Given the description of an element on the screen output the (x, y) to click on. 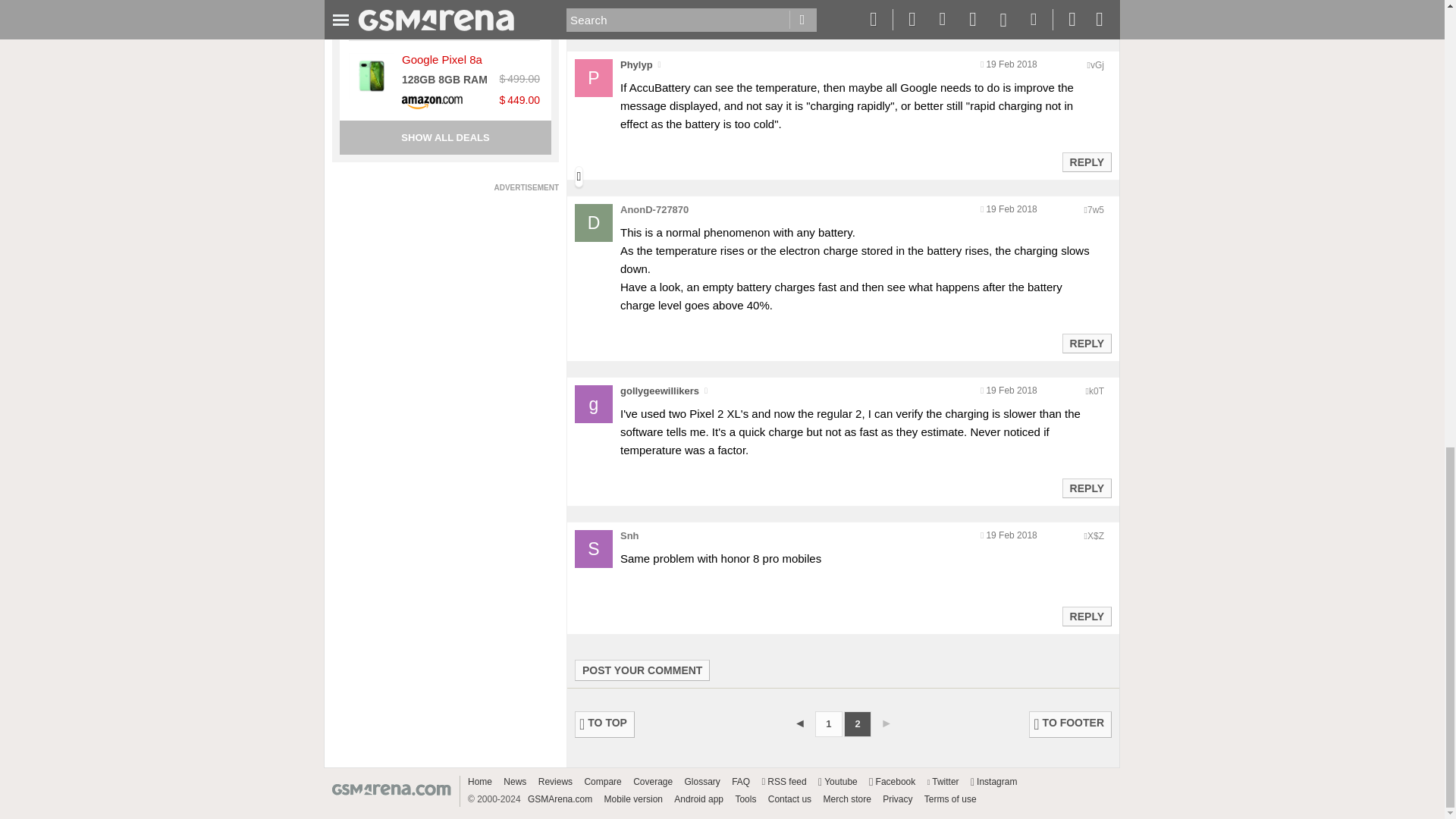
Reply to this post (1086, 343)
Reply to this post (1086, 17)
Encoded anonymized location (1095, 535)
Reply to this post (1086, 162)
TO TOP (604, 724)
Reply to this post (1086, 488)
Encoded anonymized location (1096, 390)
Encoded anonymized location (1096, 64)
Encoded anonymized location (1095, 209)
Reply to this post (1086, 616)
